Given the description of an element on the screen output the (x, y) to click on. 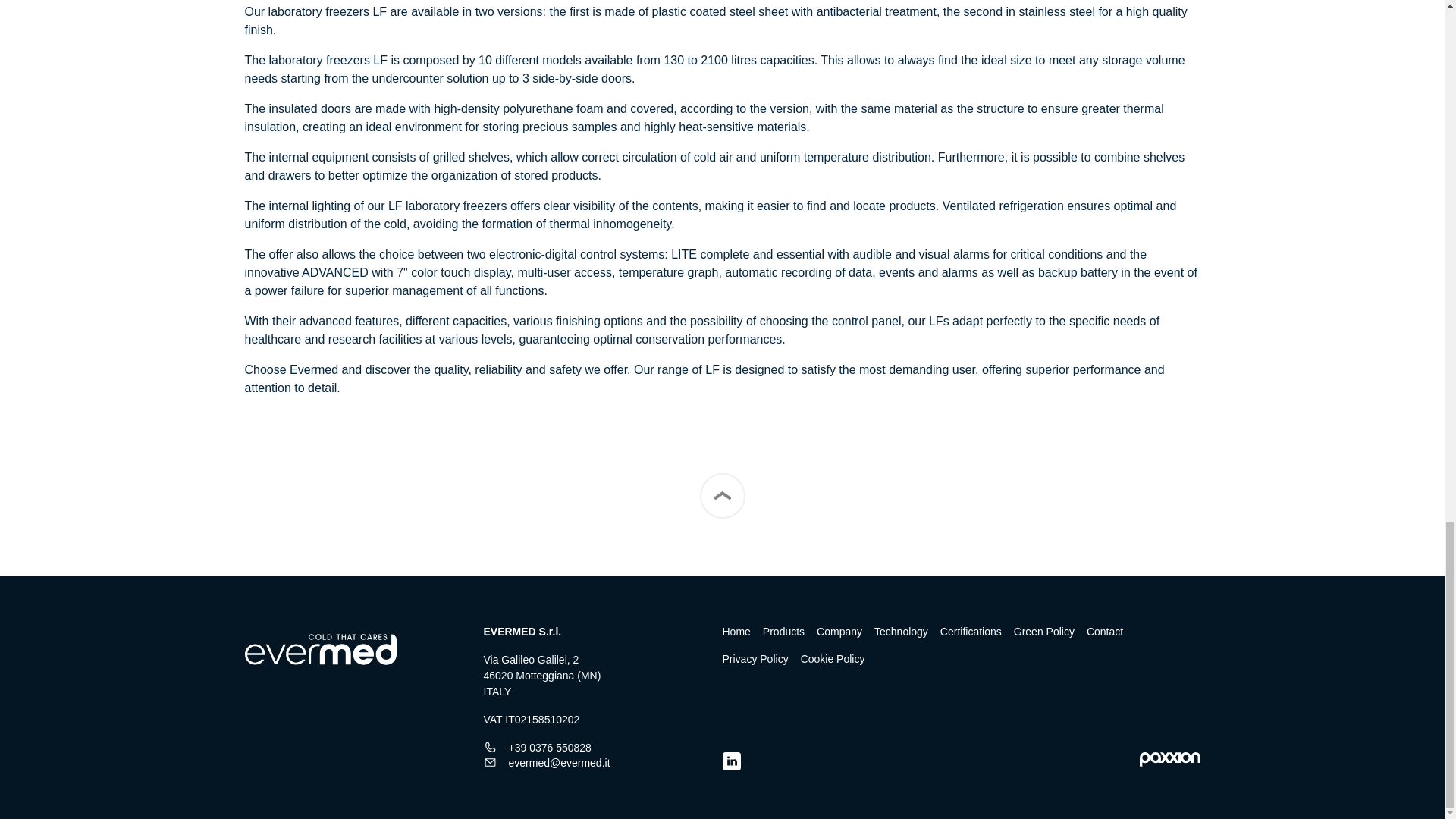
Products (783, 631)
Technology (901, 631)
Privacy Policy  (754, 658)
Company (838, 631)
Home (735, 631)
Cookie Policy  (832, 658)
